Given the description of an element on the screen output the (x, y) to click on. 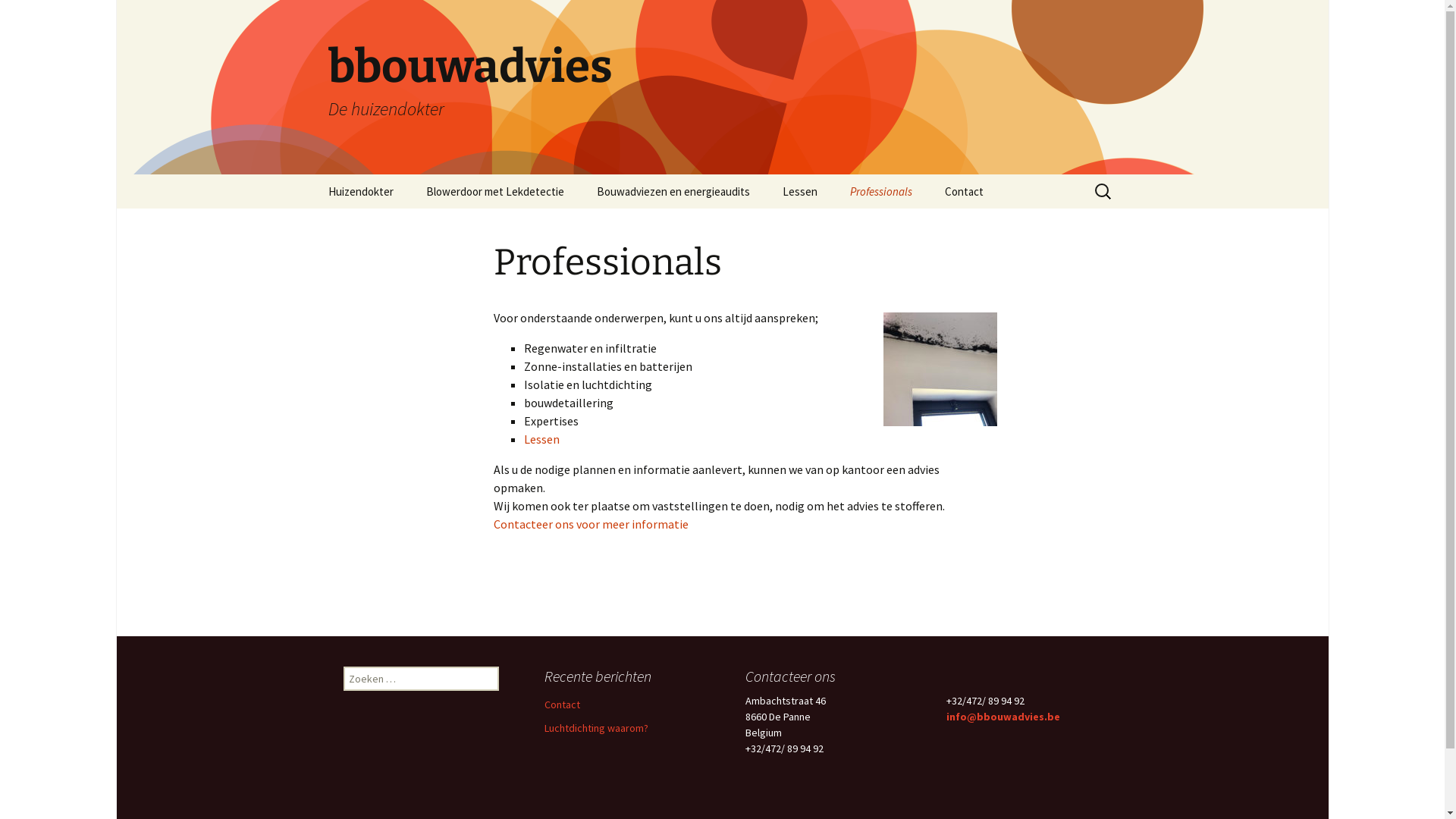
Contact Element type: text (963, 191)
Waarom een blowerdoor test? Element type: text (486, 231)
Zoeken Element type: text (35, 15)
Spring naar inhoud Element type: text (312, 173)
Lessen Element type: text (799, 191)
Contact Element type: text (562, 704)
Luchtdichting waarom? Element type: text (596, 727)
Zoeken Element type: text (18, 16)
Lessen Element type: text (540, 438)
bbouwadvies
De huizendokter Element type: text (721, 87)
Bouwadviezen en energieaudits Element type: text (672, 191)
Blowerdoor met Lekdetectie Element type: text (495, 191)
Energieadvies Horeca Element type: text (656, 225)
Professionals Element type: text (880, 191)
Contacteer ons voor meer informatie Element type: text (589, 523)
info@bbouwadvies.be Element type: text (1003, 716)
Huizendokter Element type: text (359, 191)
